Given the description of an element on the screen output the (x, y) to click on. 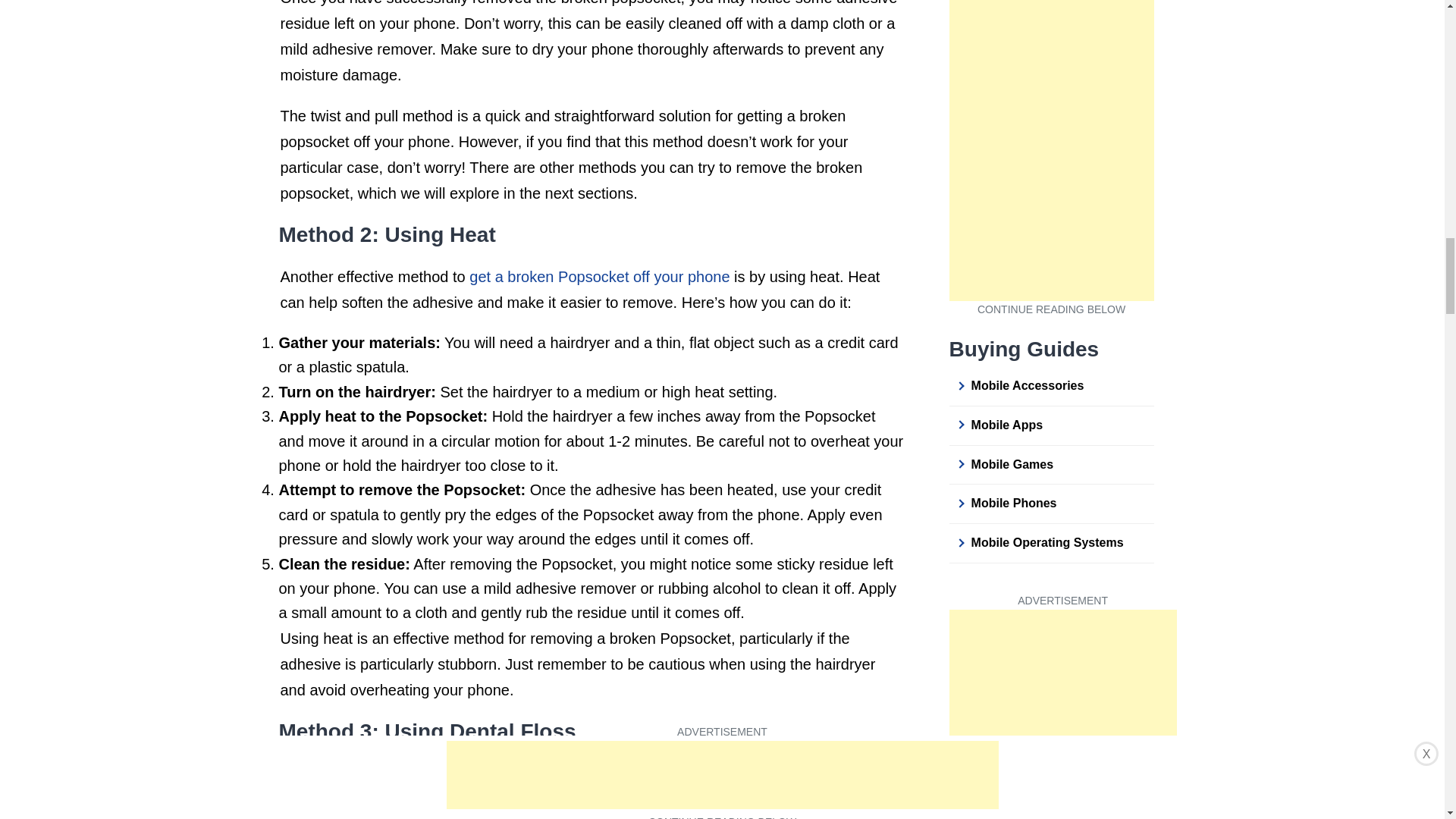
get a broken Popsocket off your phone (598, 276)
